Given the description of an element on the screen output the (x, y) to click on. 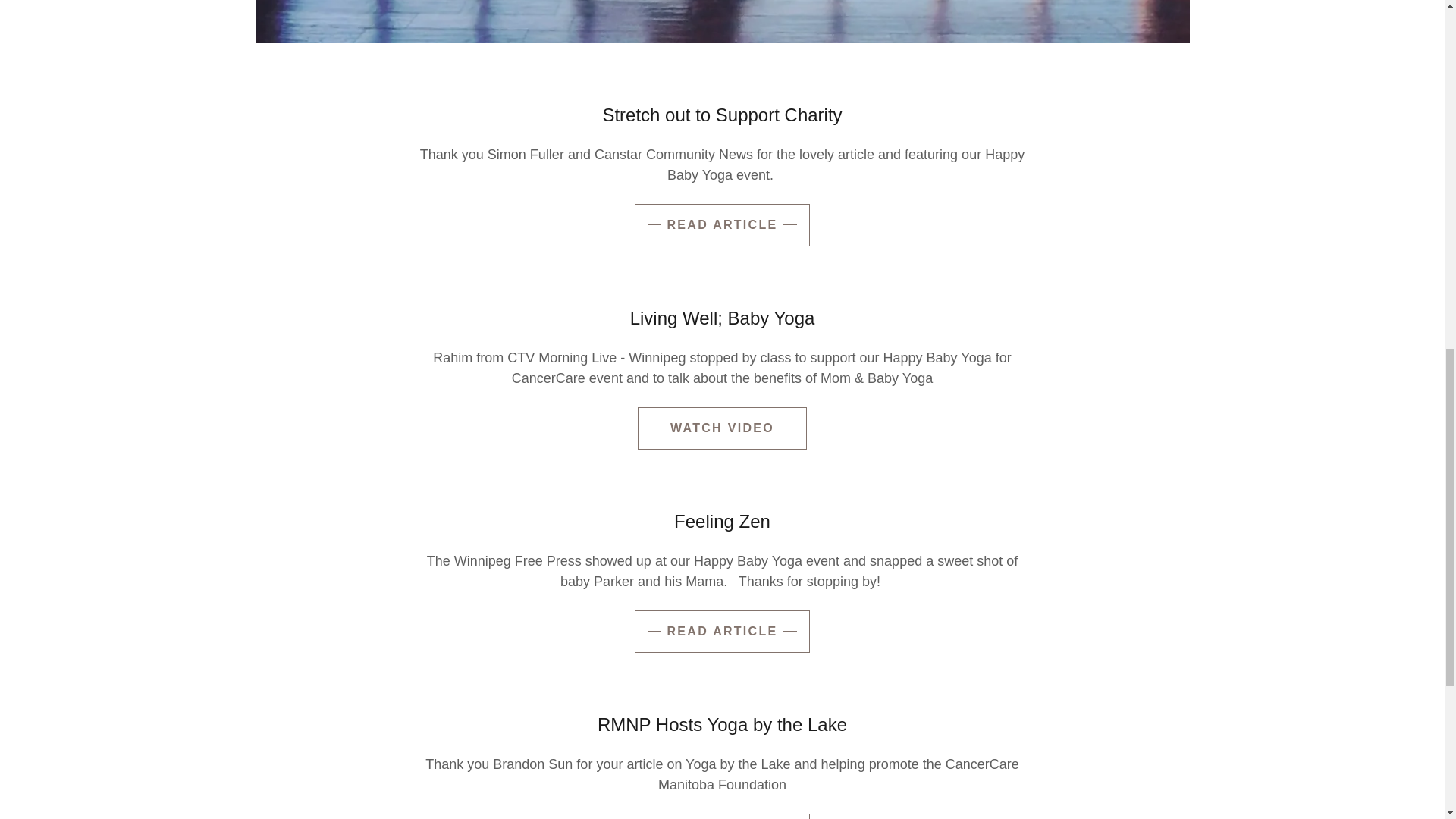
READ ARTICLE (721, 224)
READ ARTICLE (721, 816)
WATCH VIDEO (721, 428)
READ ARTICLE (721, 631)
